Given the description of an element on the screen output the (x, y) to click on. 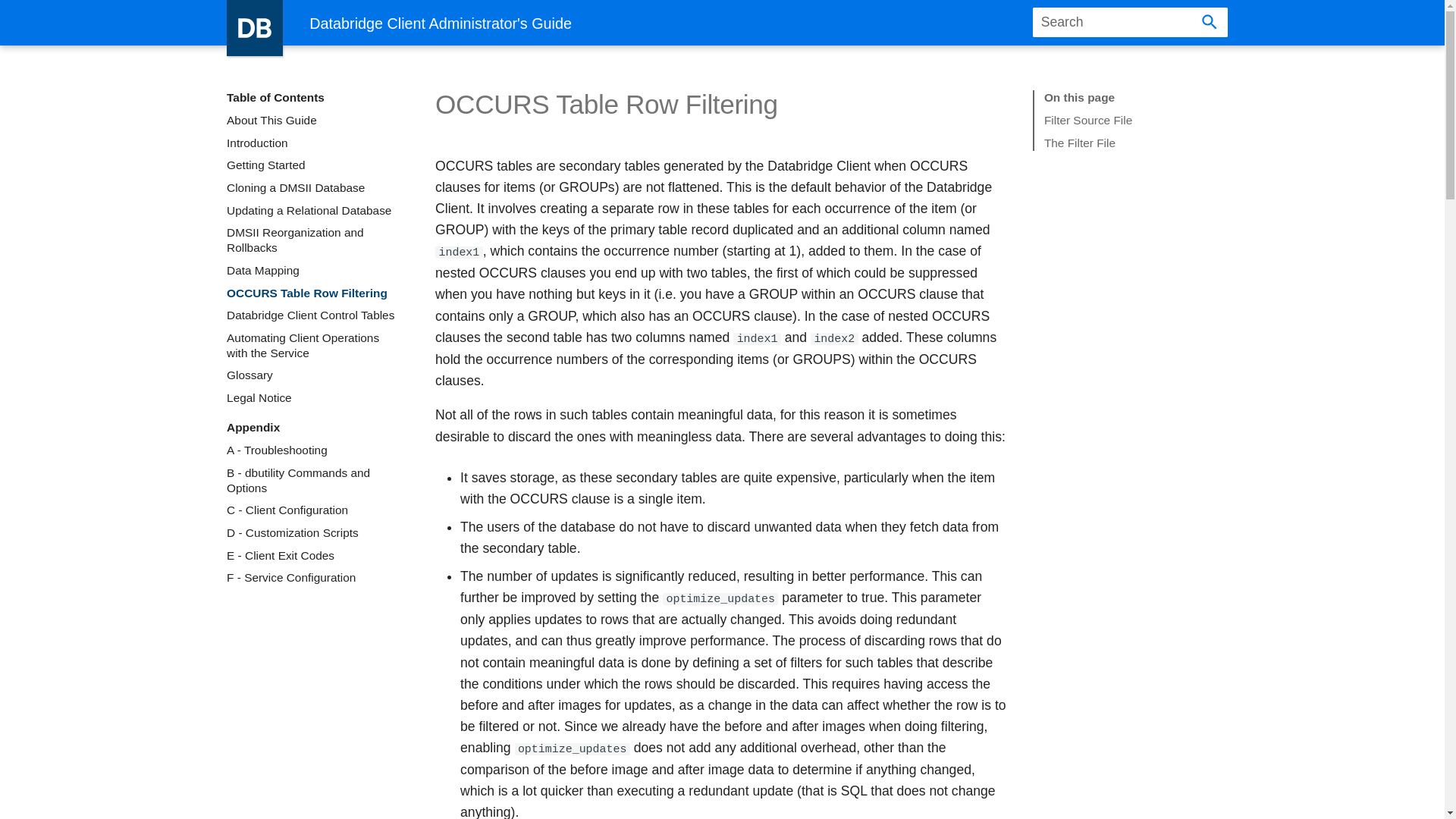
Getting Started (314, 165)
Automating Client Operations with the Service (314, 345)
Filter Source File (1130, 120)
Databridge Client Control Tables (314, 314)
F - Service Configuration (314, 577)
E - Client Exit Codes (314, 555)
Data Mapping (314, 270)
A - Troubleshooting (314, 450)
DMSII Reorganization and Rollbacks (314, 240)
Updating a Relational Database (314, 210)
